Given the description of an element on the screen output the (x, y) to click on. 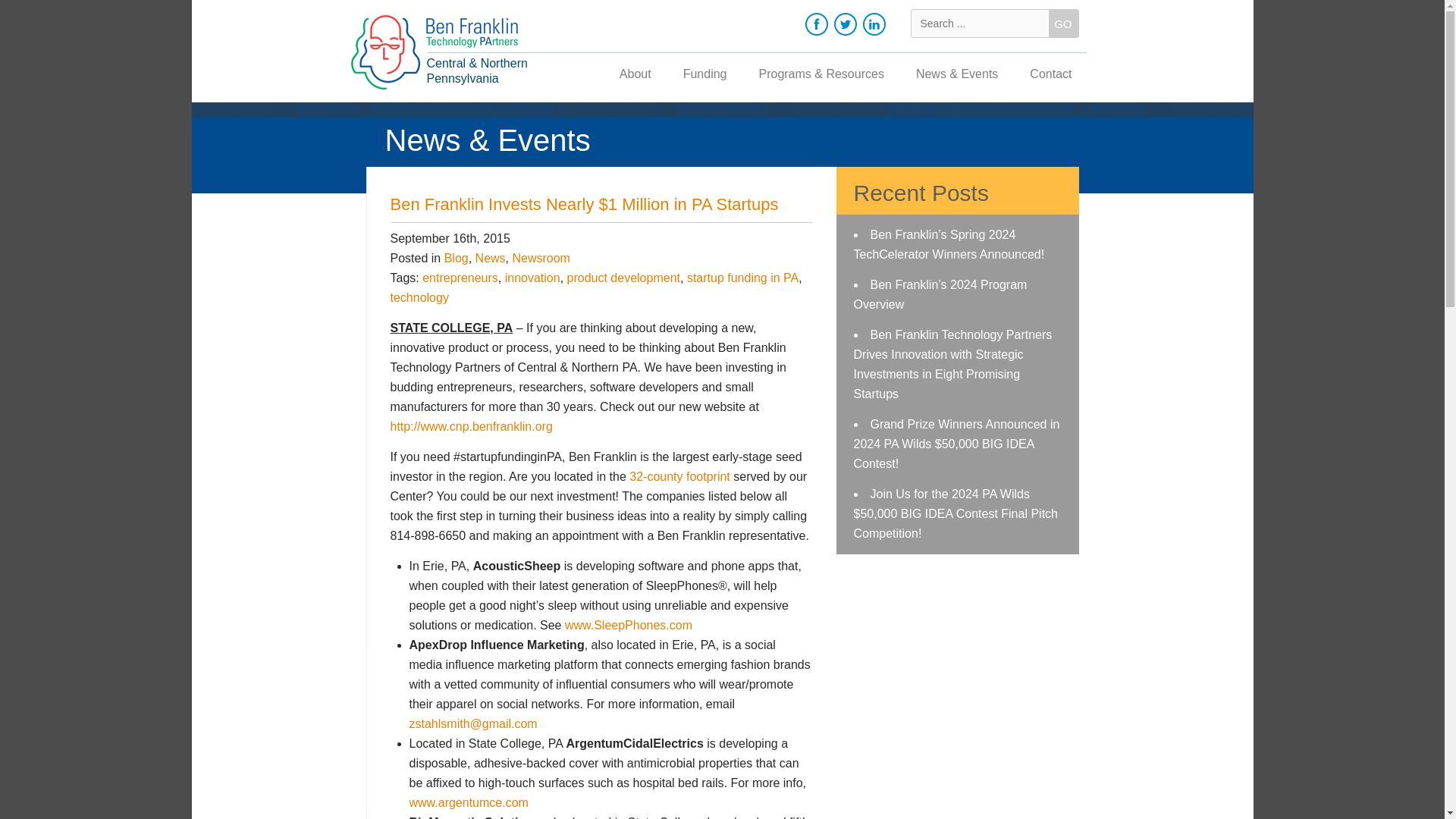
www.argentumce.com (468, 802)
Linkedin (874, 24)
product development (623, 277)
Funding (704, 76)
GO (1062, 22)
GO (1062, 22)
About (635, 76)
startup funding in PA (742, 277)
www.SleepPhones.com (628, 625)
Blog (456, 257)
News (490, 257)
Twitter (845, 24)
GO (1062, 22)
32-county footprint (679, 476)
